Given the description of an element on the screen output the (x, y) to click on. 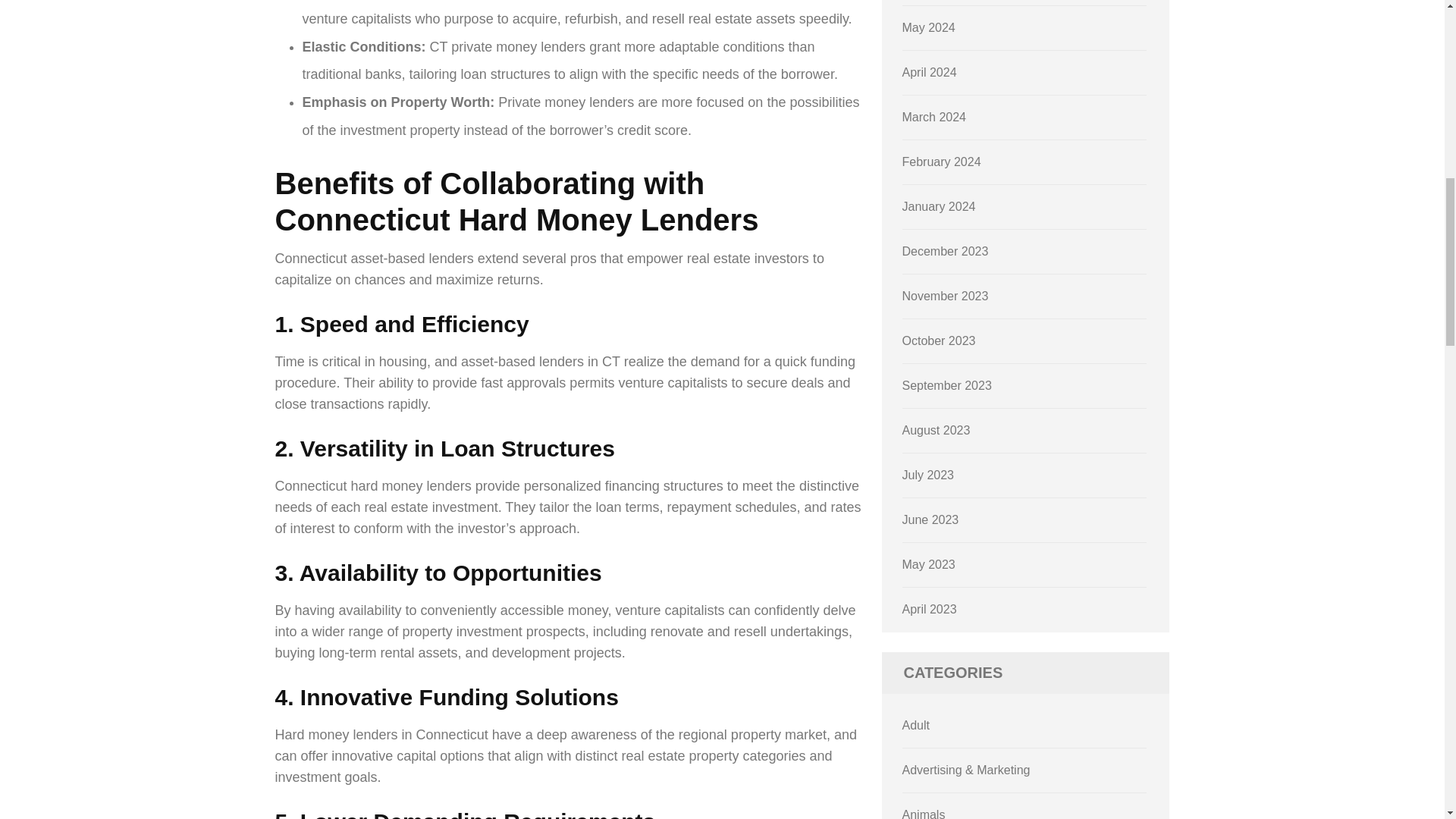
January 2024 (938, 205)
May 2024 (928, 27)
March 2024 (934, 116)
Adult (916, 725)
April 2023 (929, 608)
May 2023 (928, 563)
August 2023 (936, 430)
July 2023 (928, 474)
September 2023 (946, 385)
June 2023 (930, 519)
October 2023 (938, 340)
February 2024 (941, 161)
December 2023 (945, 250)
April 2024 (929, 72)
November 2023 (945, 295)
